Given the description of an element on the screen output the (x, y) to click on. 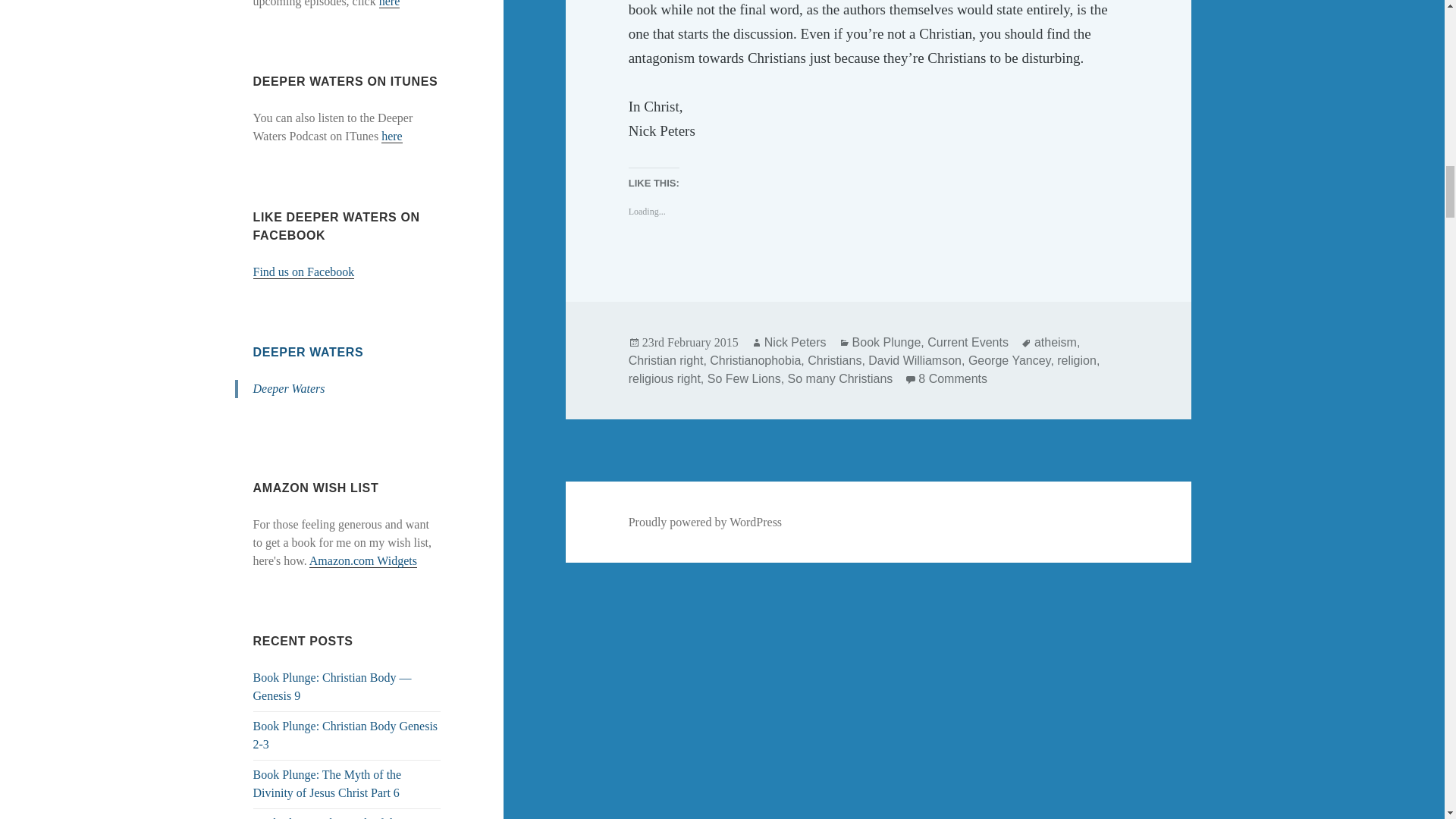
DEEPER WATERS (308, 351)
Deeper Waters (288, 388)
Book Plunge: The Myth of the Divinity of Jesus Christ Part 5 (327, 817)
Amazon.com Widgets (362, 561)
Book Plunge: Christian Body Genesis 2-3 (345, 735)
here (389, 4)
Find us on Facebook (304, 272)
here (392, 136)
Book Plunge: The Myth of the Divinity of Jesus Christ Part 6 (327, 783)
